Given the description of an element on the screen output the (x, y) to click on. 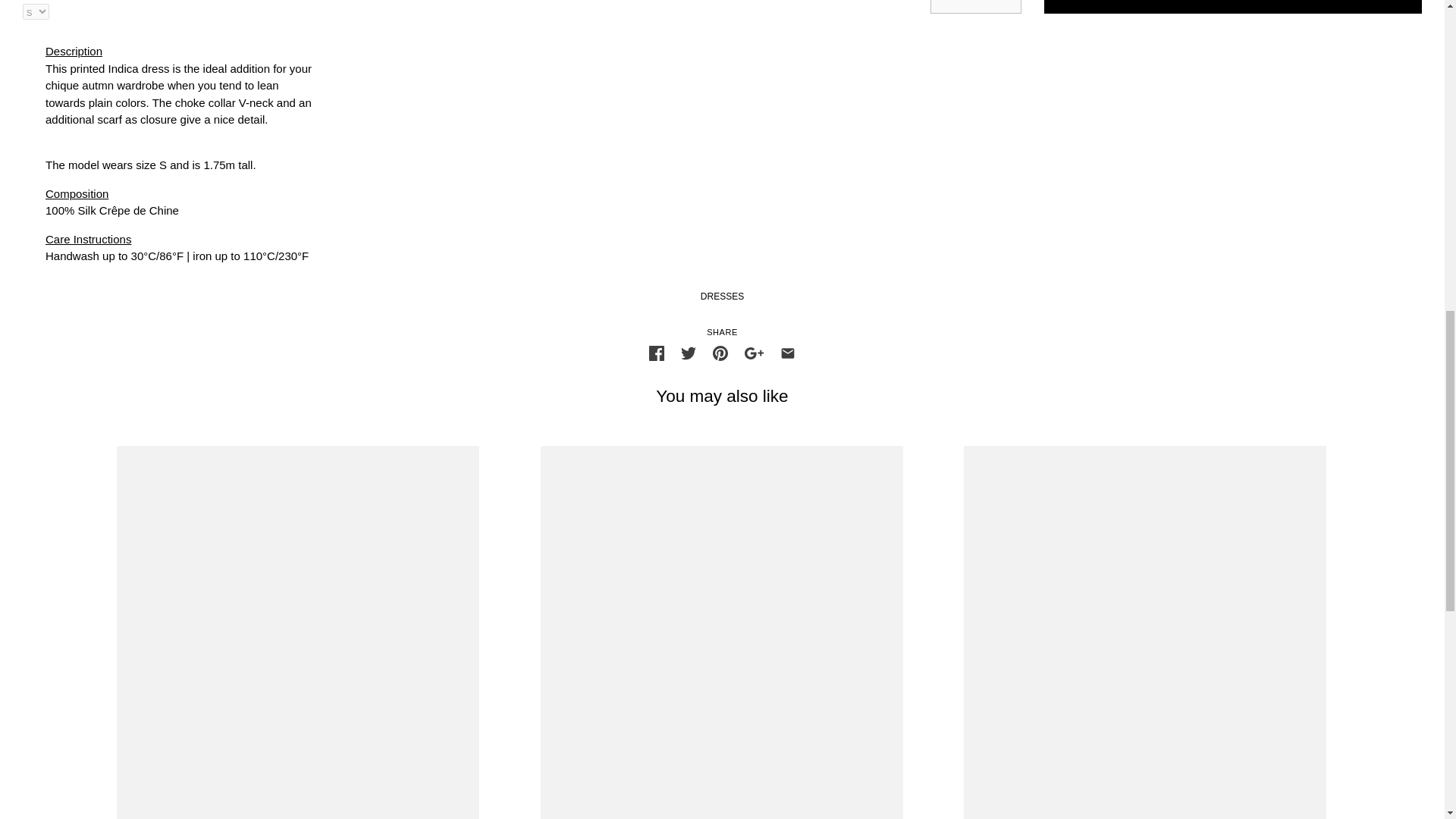
Twitter (688, 353)
Facebook (656, 353)
Pinterest (720, 353)
1 (975, 6)
Email (787, 353)
GooglePlus (753, 353)
